Given the description of an element on the screen output the (x, y) to click on. 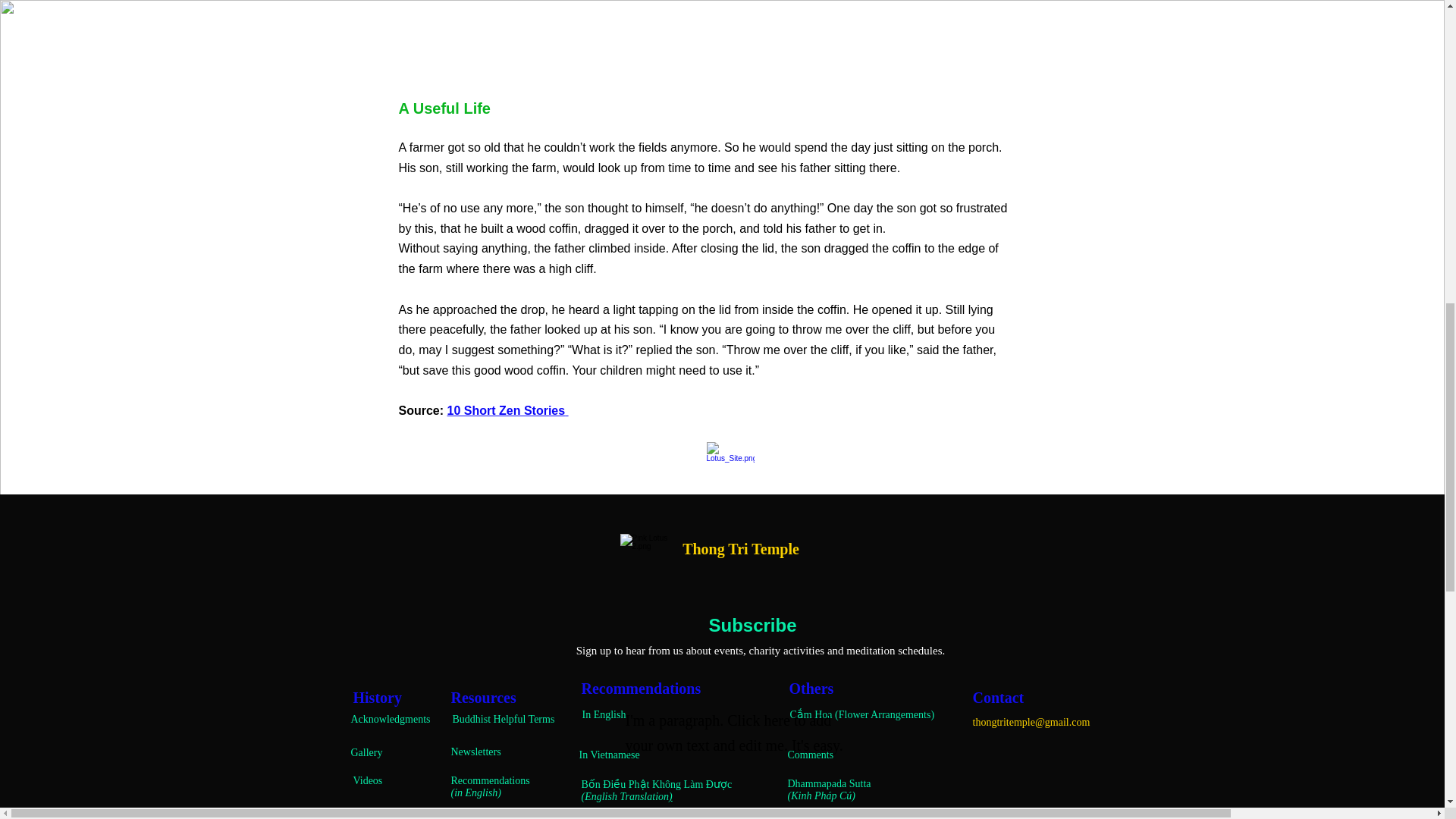
Acknowledgments (389, 718)
Buddhist Helpful Terms (502, 718)
Videos (367, 780)
History (377, 697)
10 Short Zen Stories (506, 410)
Gallery (365, 752)
In Vietnamese (609, 754)
In English (604, 714)
Comments (809, 754)
Thong Tri Temple  (742, 548)
Subscribe (751, 625)
